Given the description of an element on the screen output the (x, y) to click on. 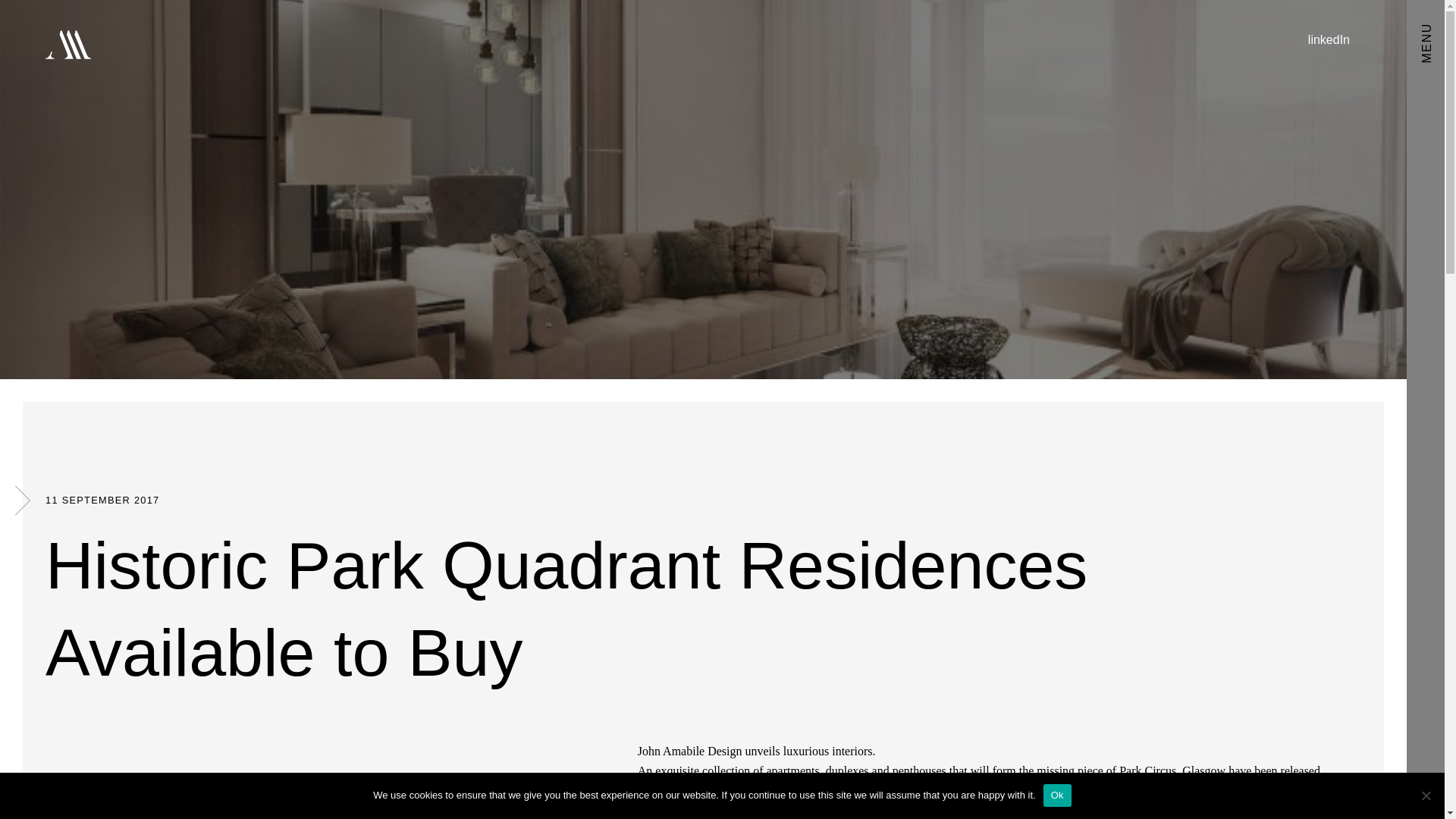
Ok (1057, 794)
No (1425, 795)
linkedIn (1328, 39)
